Given the description of an element on the screen output the (x, y) to click on. 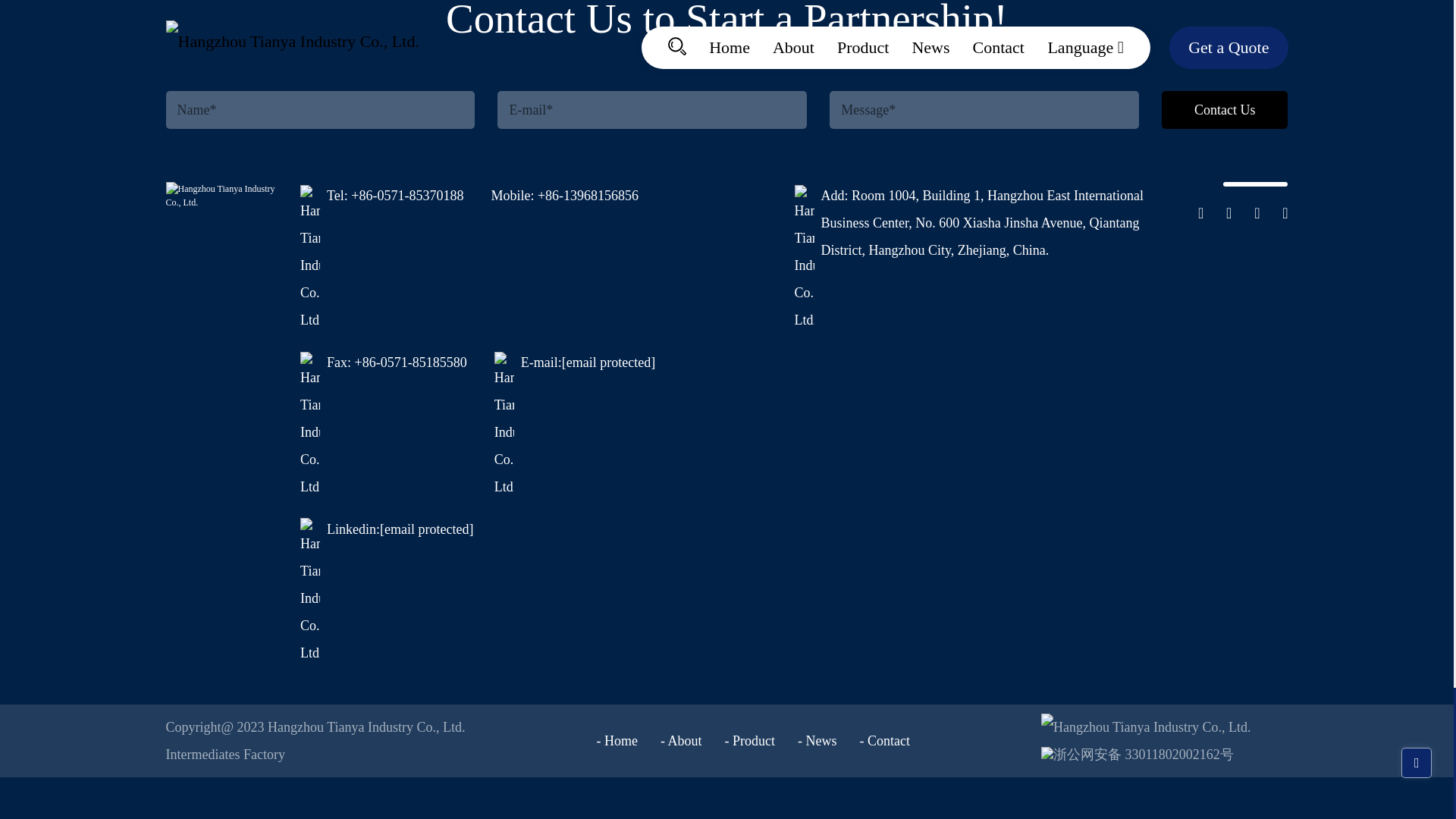
Contact Us (1224, 109)
